Given the description of an element on the screen output the (x, y) to click on. 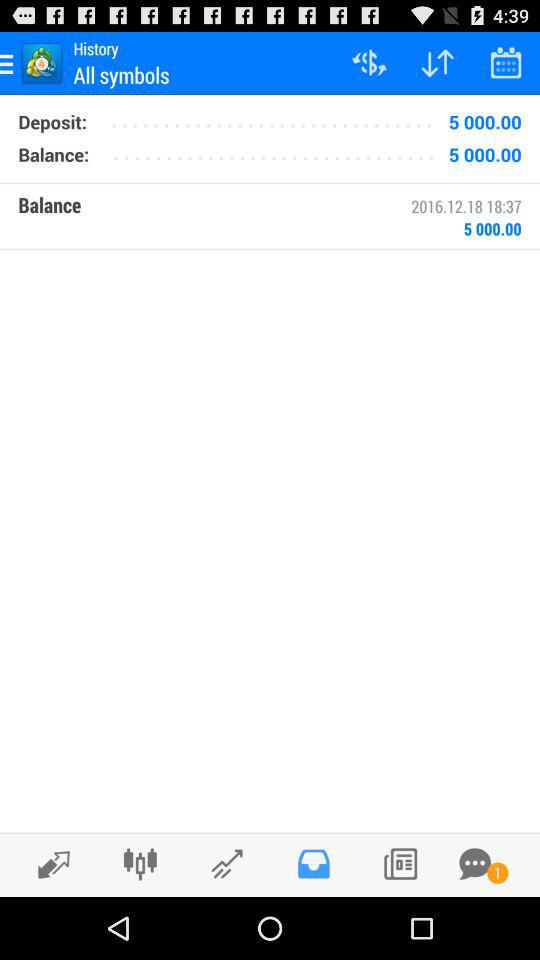
update page (48, 864)
